Given the description of an element on the screen output the (x, y) to click on. 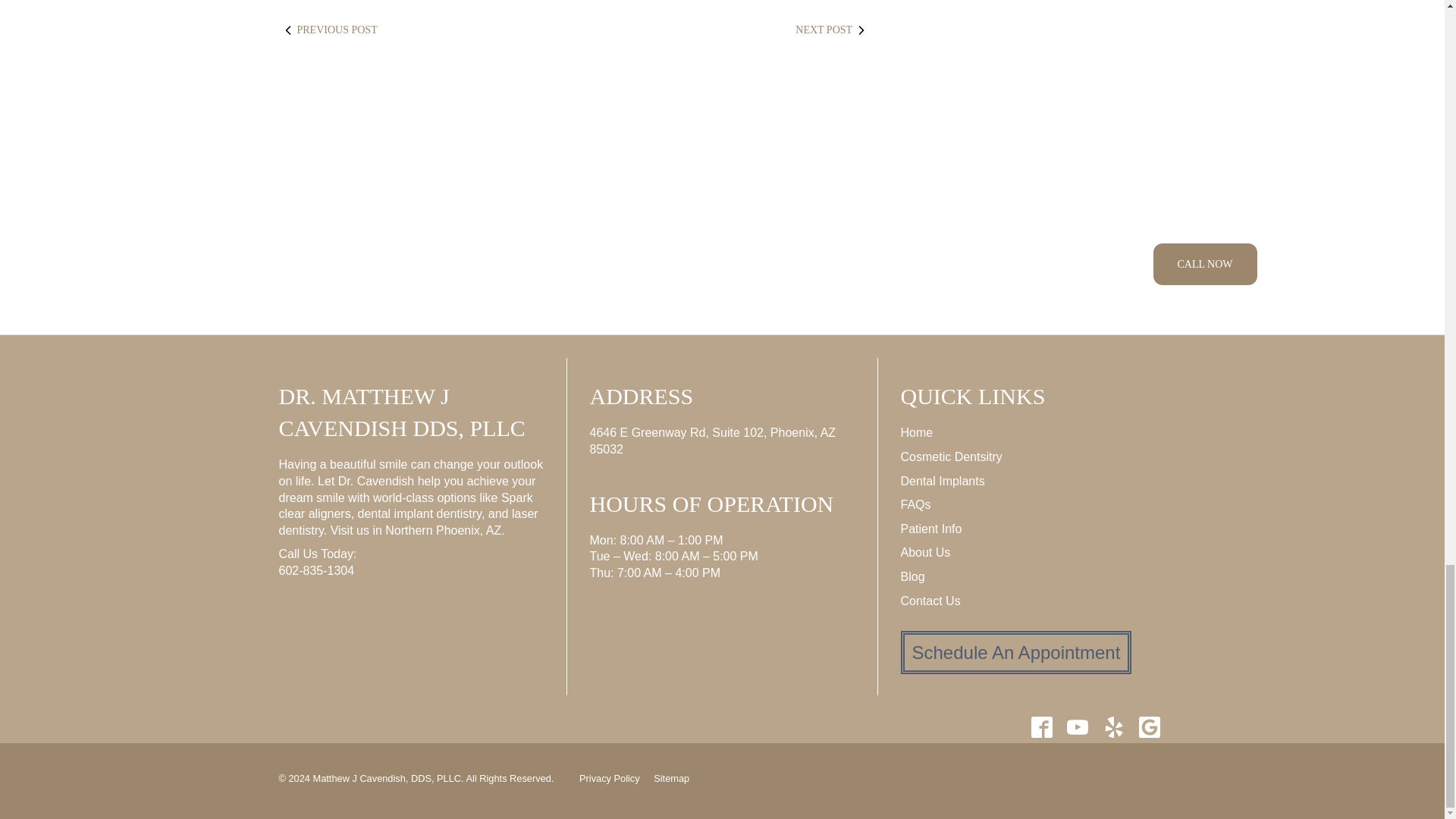
facebook (1041, 726)
yelp (1113, 726)
google (1149, 726)
youtube (1077, 726)
